Given the description of an element on the screen output the (x, y) to click on. 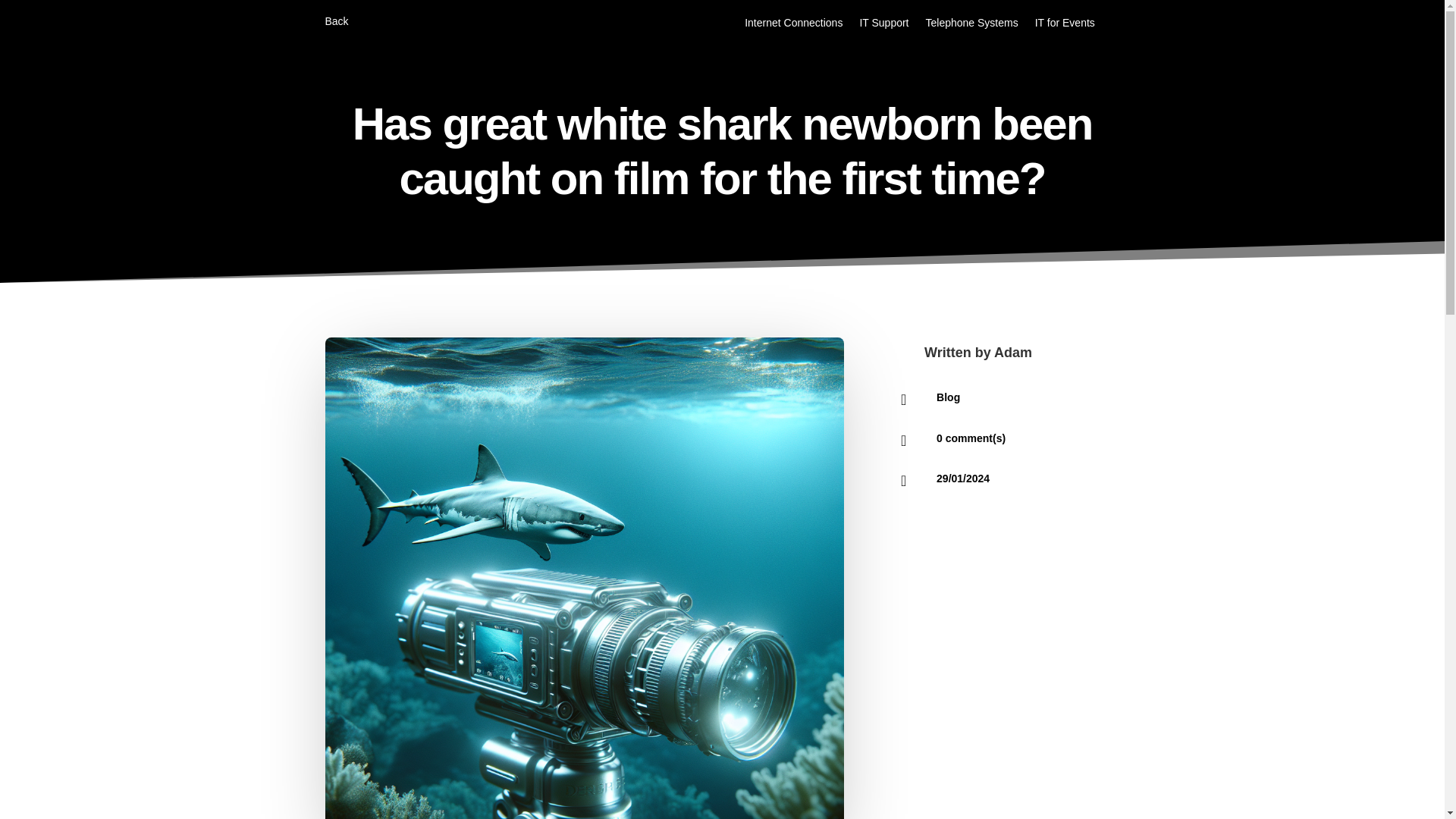
Back (336, 23)
IT for Events (1064, 25)
Telephone Systems (971, 25)
Blog (947, 397)
Internet Connections (793, 25)
Adam (1013, 352)
IT Support (883, 25)
